Given the description of an element on the screen output the (x, y) to click on. 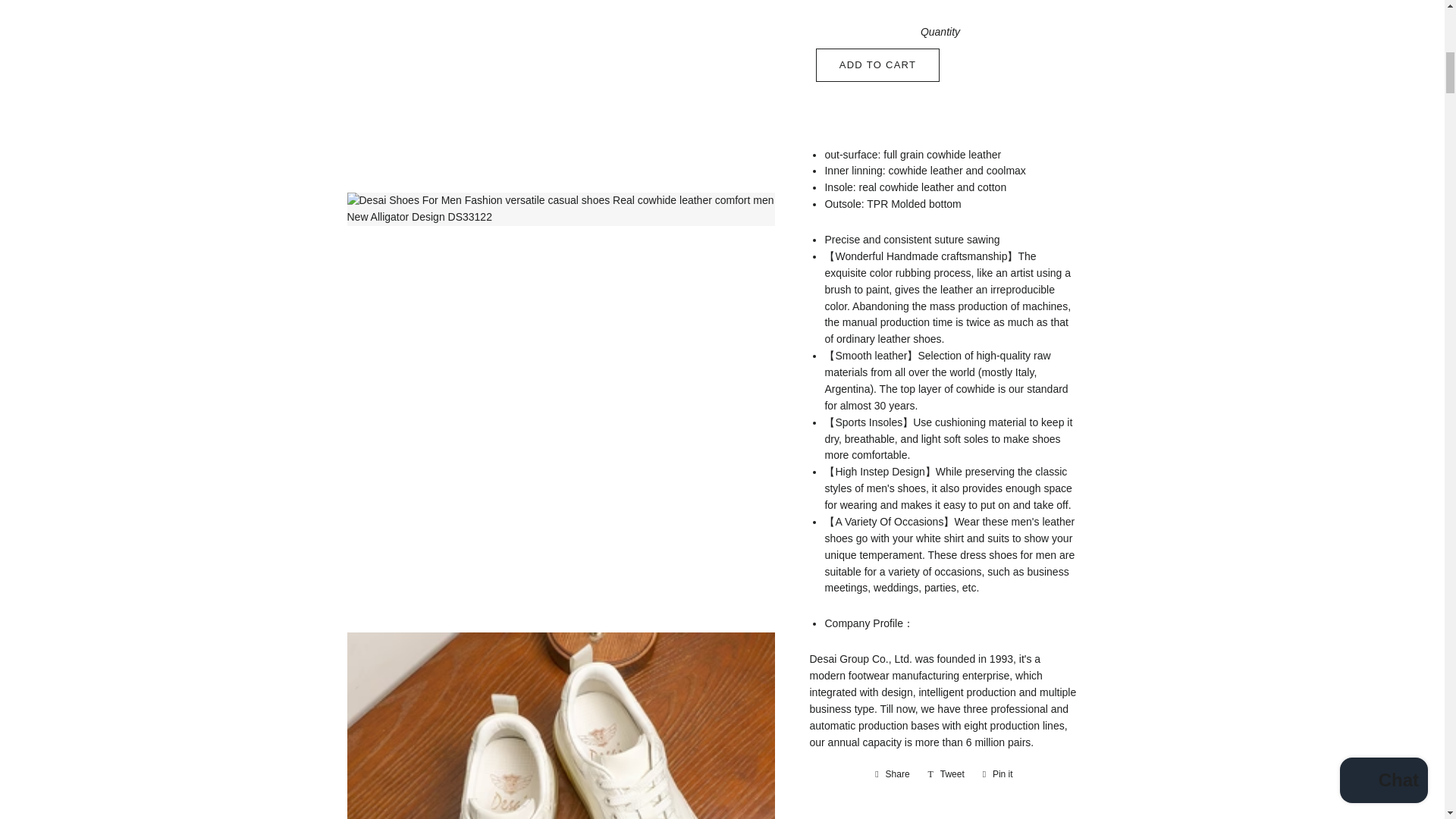
ADD TO CART (877, 64)
Tweet on Twitter (946, 773)
Share on Facebook (892, 773)
Pin on Pinterest (997, 773)
